Given the description of an element on the screen output the (x, y) to click on. 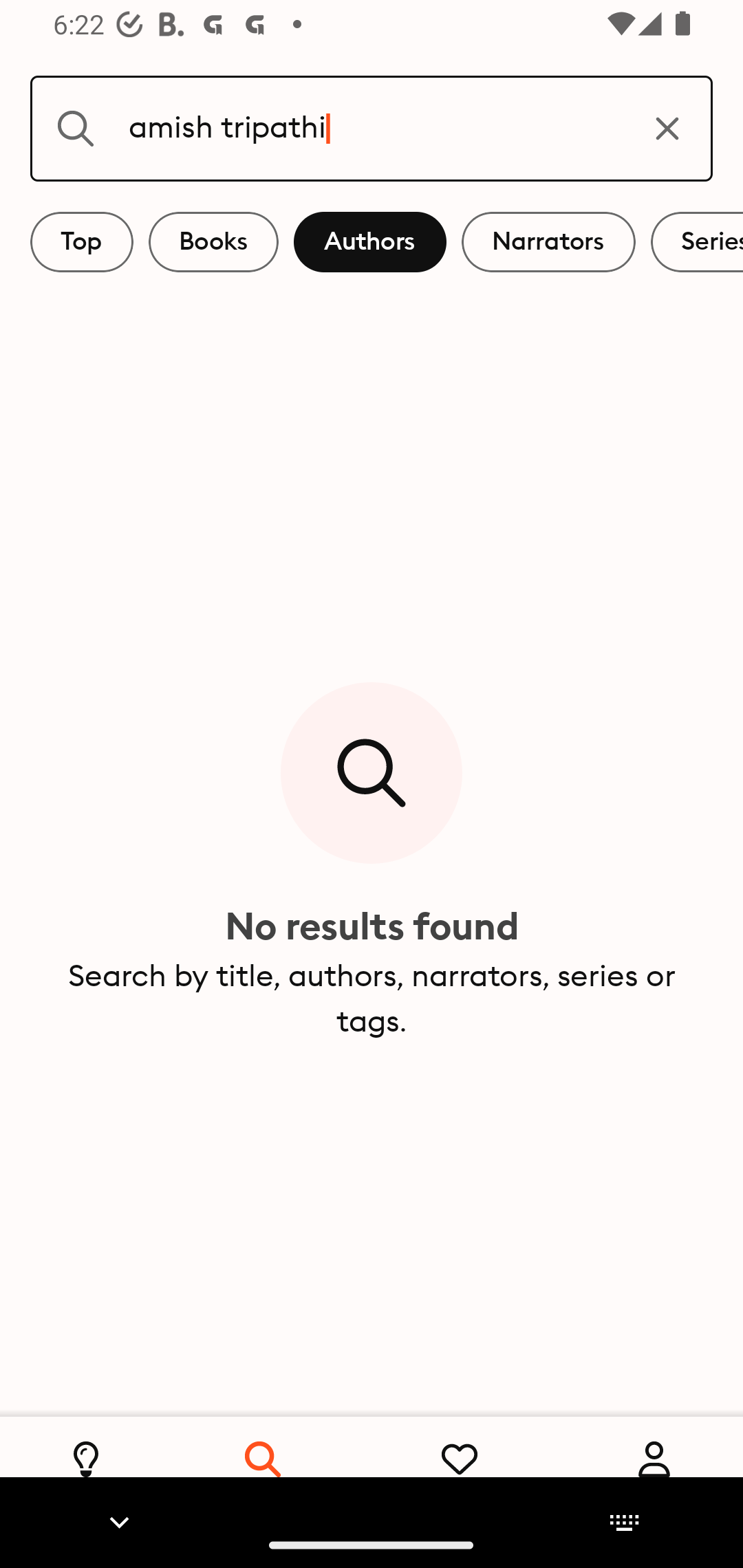
amish tripathi (371, 128)
Top (81, 241)
Books (213, 241)
Authors (369, 241)
Narrators (548, 241)
Series (696, 241)
